Given the description of an element on the screen output the (x, y) to click on. 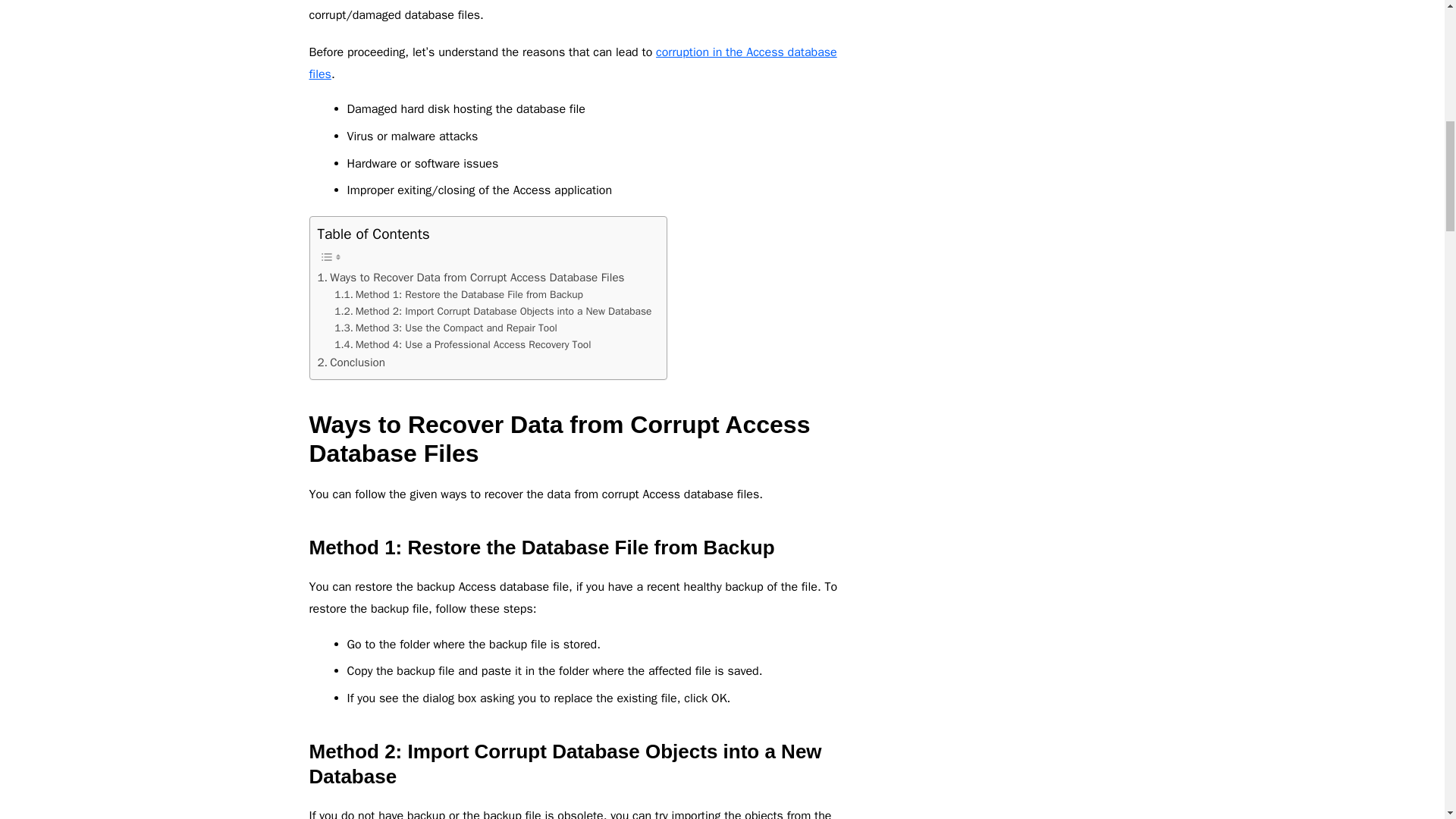
Ways to Recover Data from Corrupt Access Database Files (470, 277)
Ways to Recover Data from Corrupt Access Database Files (470, 277)
Method 4: Use a Professional Access Recovery Tool (462, 344)
Conclusion (350, 361)
Conclusion (350, 361)
Method 3: Use the Compact and Repair Tool (445, 328)
Method 1: Restore the Database File from Backup (458, 294)
Method 3: Use the Compact and Repair Tool (445, 328)
corruption in the Access database files (572, 63)
Method 1: Restore the Database File from Backup (458, 294)
Method 4: Use a Professional Access Recovery Tool (462, 344)
